Given the description of an element on the screen output the (x, y) to click on. 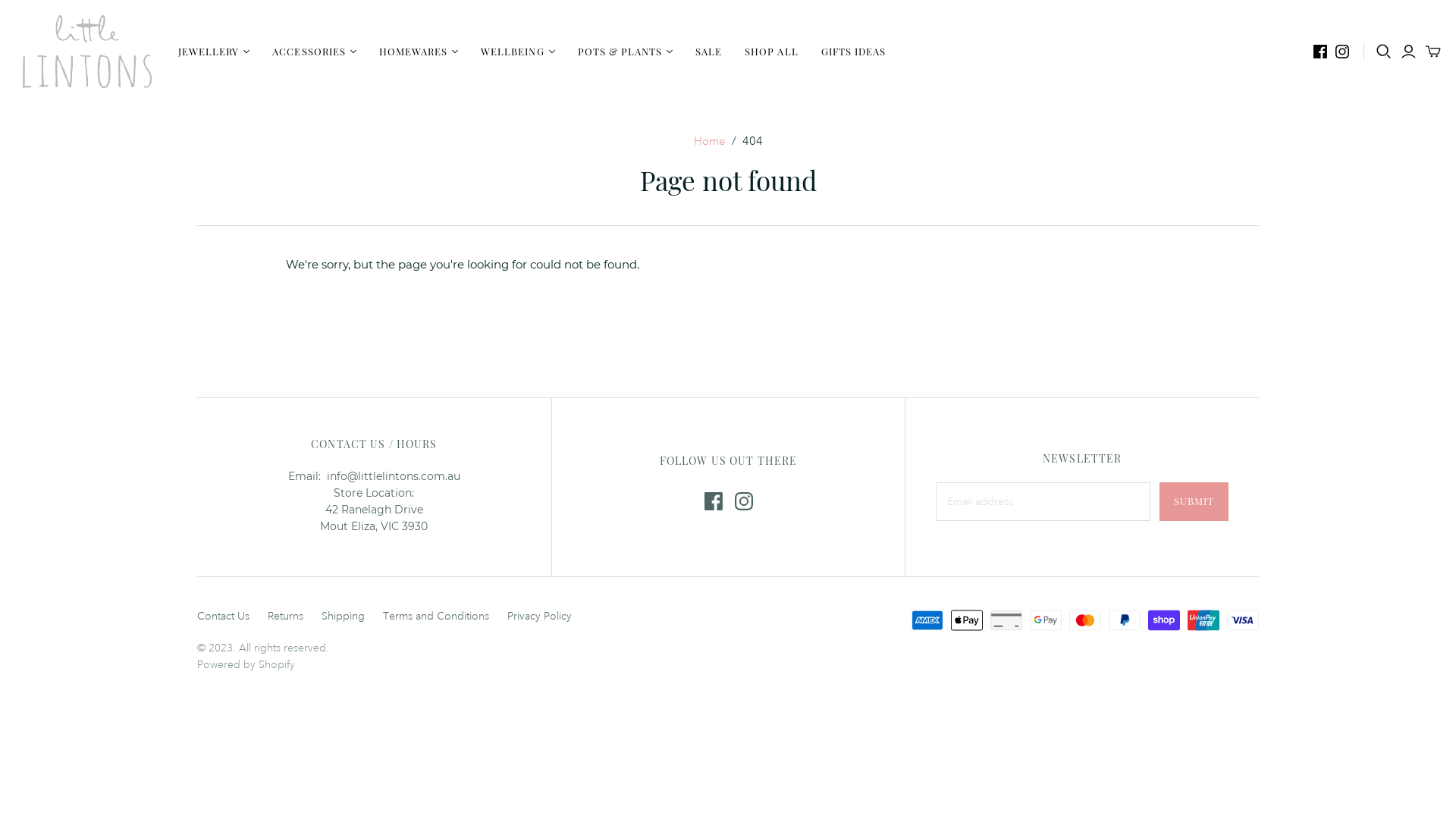
POTS & PLANTS Element type: text (625, 51)
Home Element type: text (708, 141)
ACCESSORIES Element type: text (313, 51)
JEWELLERY Element type: text (213, 51)
GIFTS IDEAS Element type: text (853, 51)
SHOP ALL Element type: text (771, 51)
WELLBEING Element type: text (517, 51)
SALE Element type: text (708, 51)
HOMEWARES Element type: text (418, 51)
Contact Us Element type: text (223, 615)
Terms and Conditions Element type: text (435, 615)
Powered by Shopify Element type: text (245, 664)
Shipping Element type: text (342, 615)
Submit Element type: text (1193, 501)
Privacy Policy Element type: text (539, 615)
Returns Element type: text (285, 615)
